Given the description of an element on the screen output the (x, y) to click on. 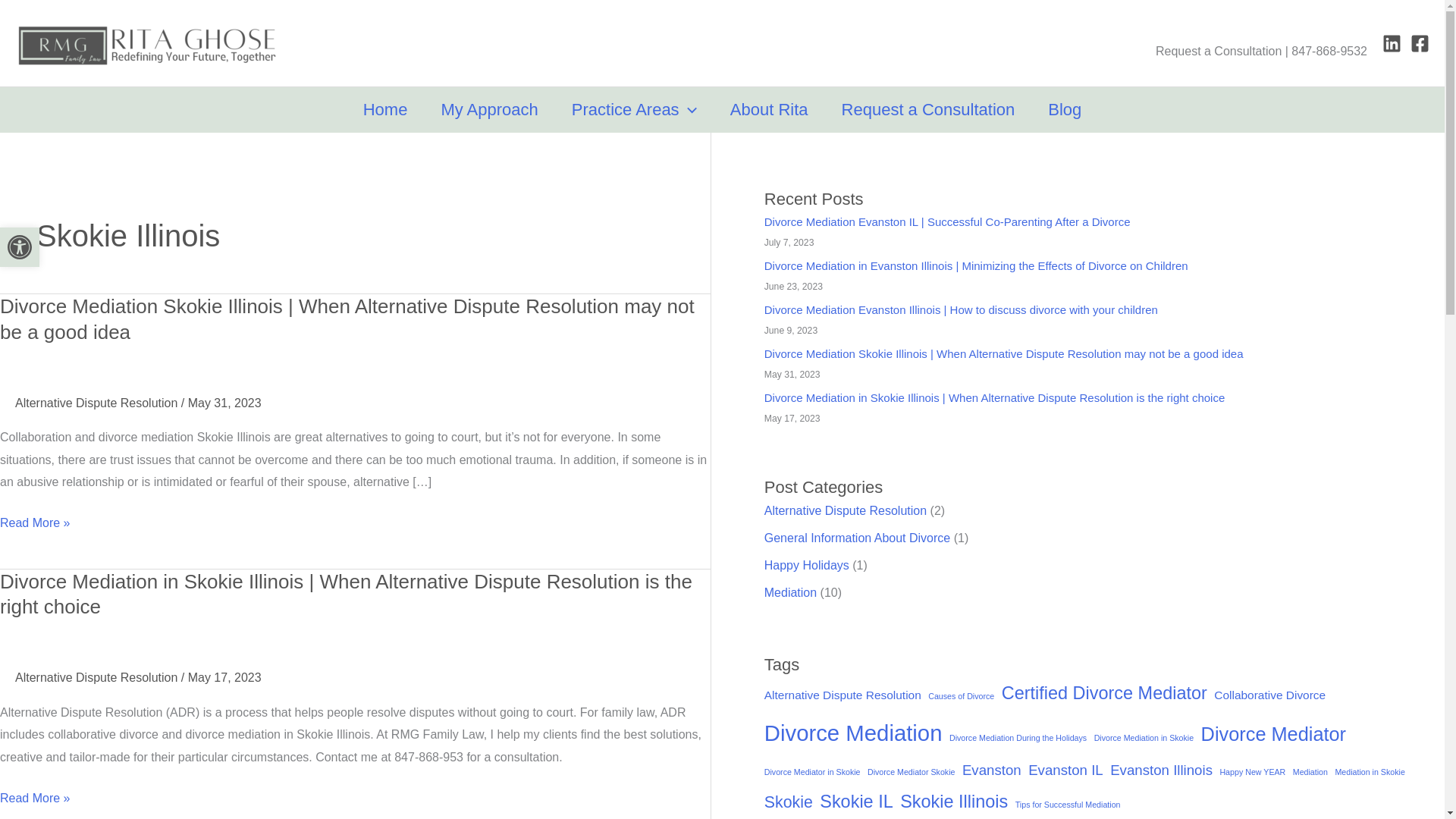
About Rita (769, 109)
Practice Areas (19, 246)
Request a Consultation (633, 109)
Accessibility Tools (928, 109)
Blog (19, 246)
My Approach (1063, 109)
Accessibility Tools (488, 109)
Home (19, 247)
